Given the description of an element on the screen output the (x, y) to click on. 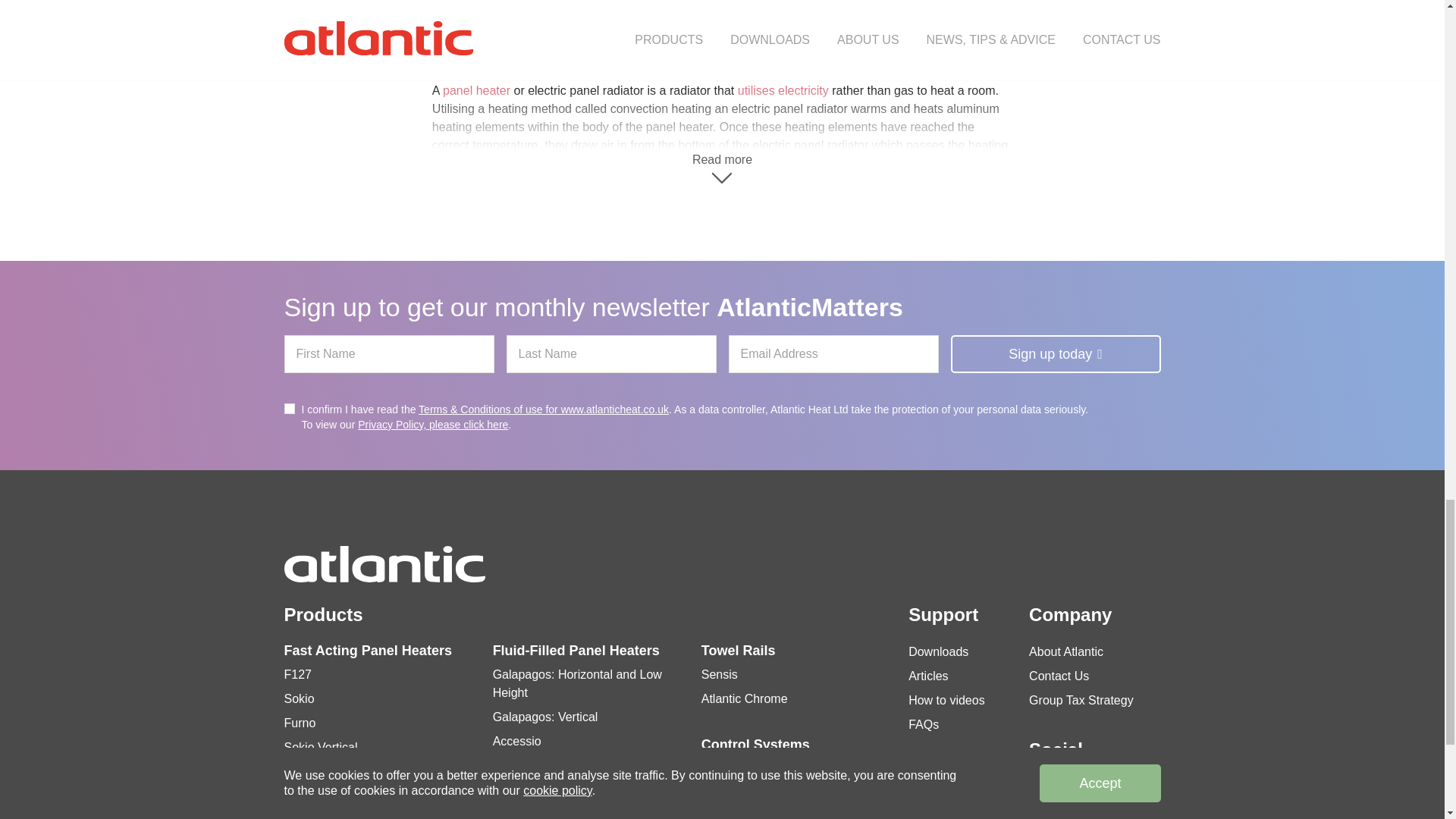
583c01ba32 (288, 408)
